Given the description of an element on the screen output the (x, y) to click on. 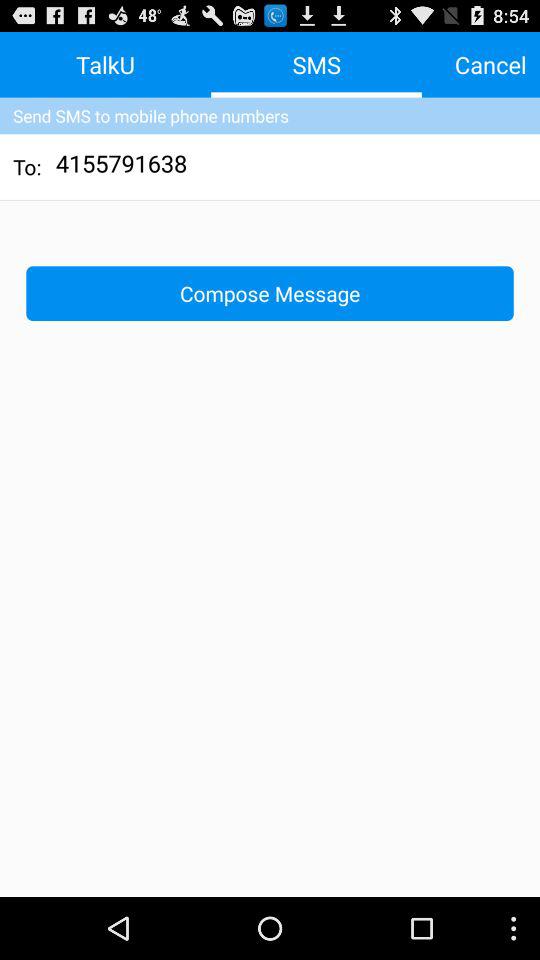
turn on the icon to the right of sms app (490, 64)
